Given the description of an element on the screen output the (x, y) to click on. 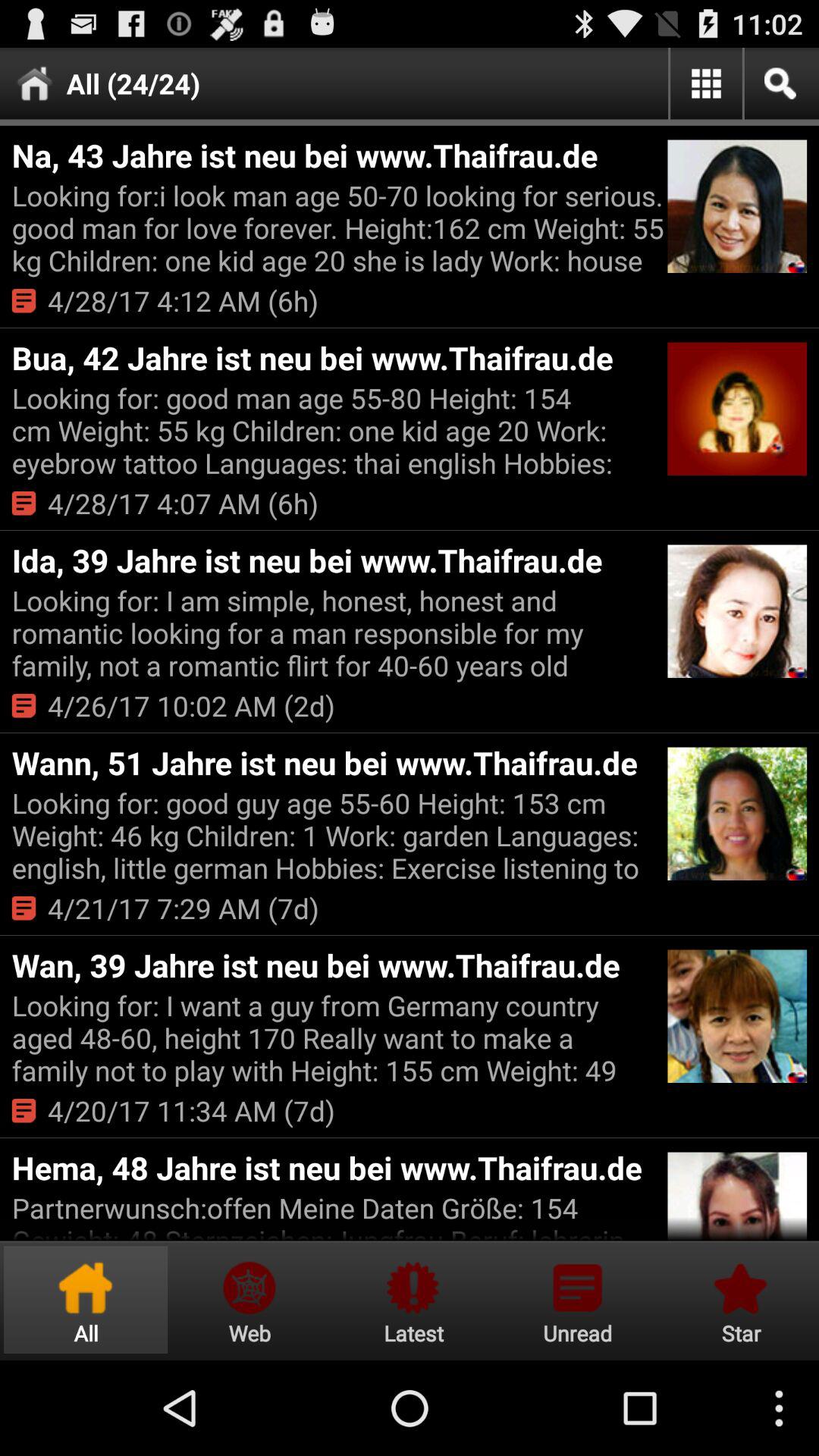
jump to the hema 48 jahre item (337, 1167)
